Given the description of an element on the screen output the (x, y) to click on. 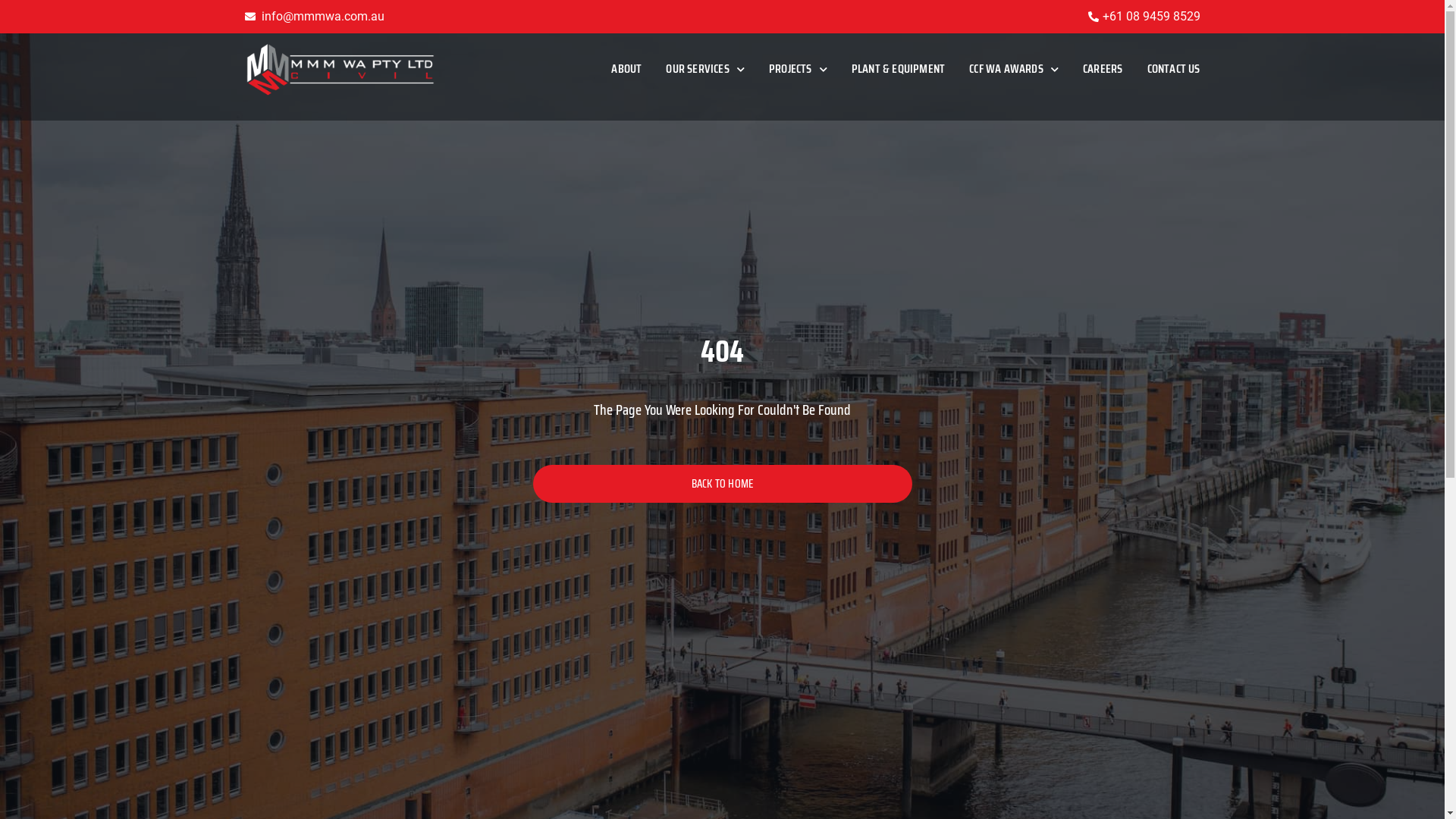
PROJECTS Element type: text (797, 69)
CAREERS Element type: text (1102, 69)
BACK TO HOME Element type: text (721, 483)
OUR SERVICES Element type: text (704, 69)
PLANT & EQUIPMENT Element type: text (897, 69)
CCF WA AWARDS Element type: text (1013, 69)
CONTACT US Element type: text (1172, 69)
info@mmmwa.com.au Element type: text (314, 16)
+61 08 9459 8529 Element type: text (1142, 16)
ABOUT Element type: text (626, 69)
